Given the description of an element on the screen output the (x, y) to click on. 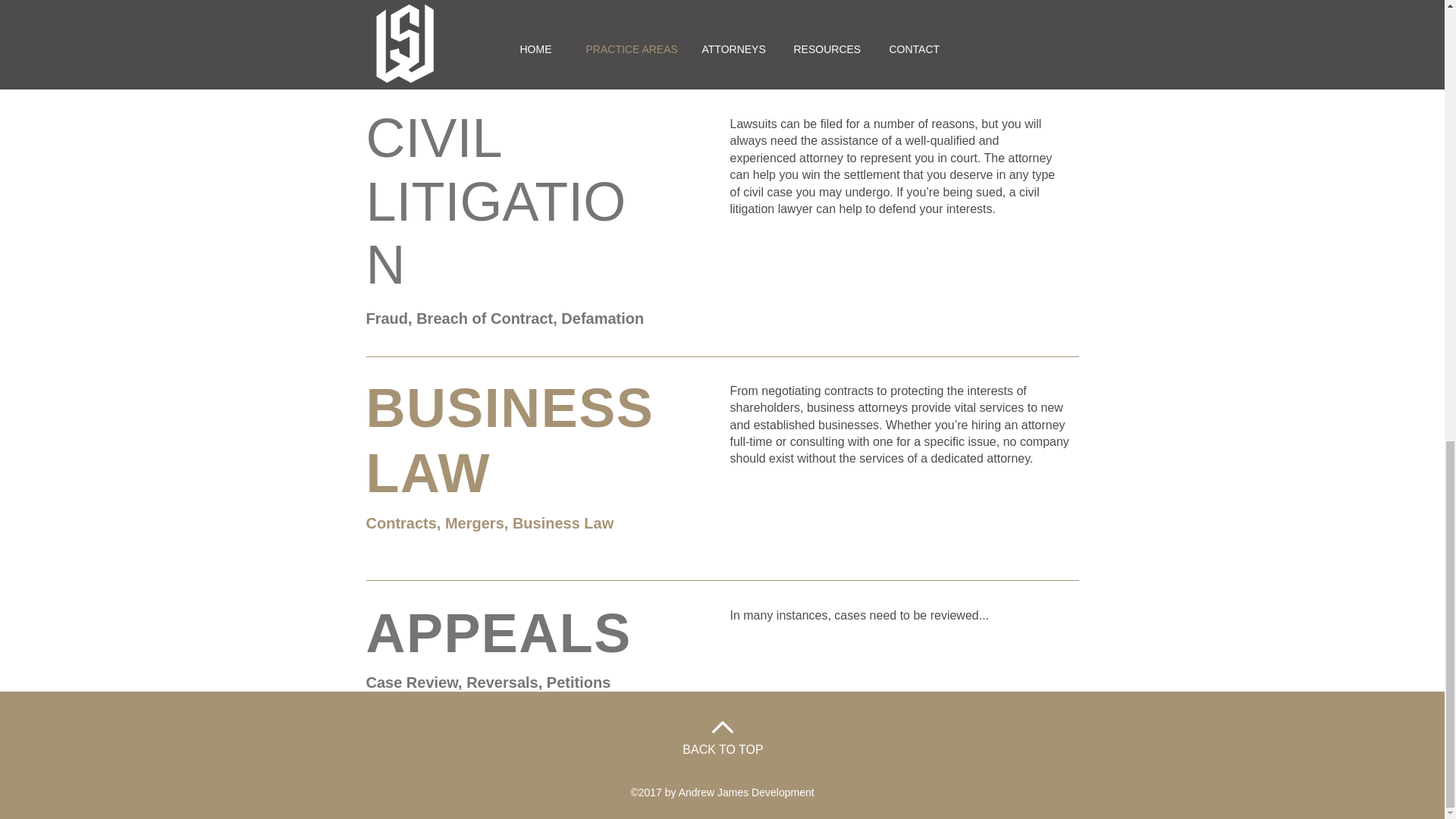
BACK TO TOP (722, 748)
